Given the description of an element on the screen output the (x, y) to click on. 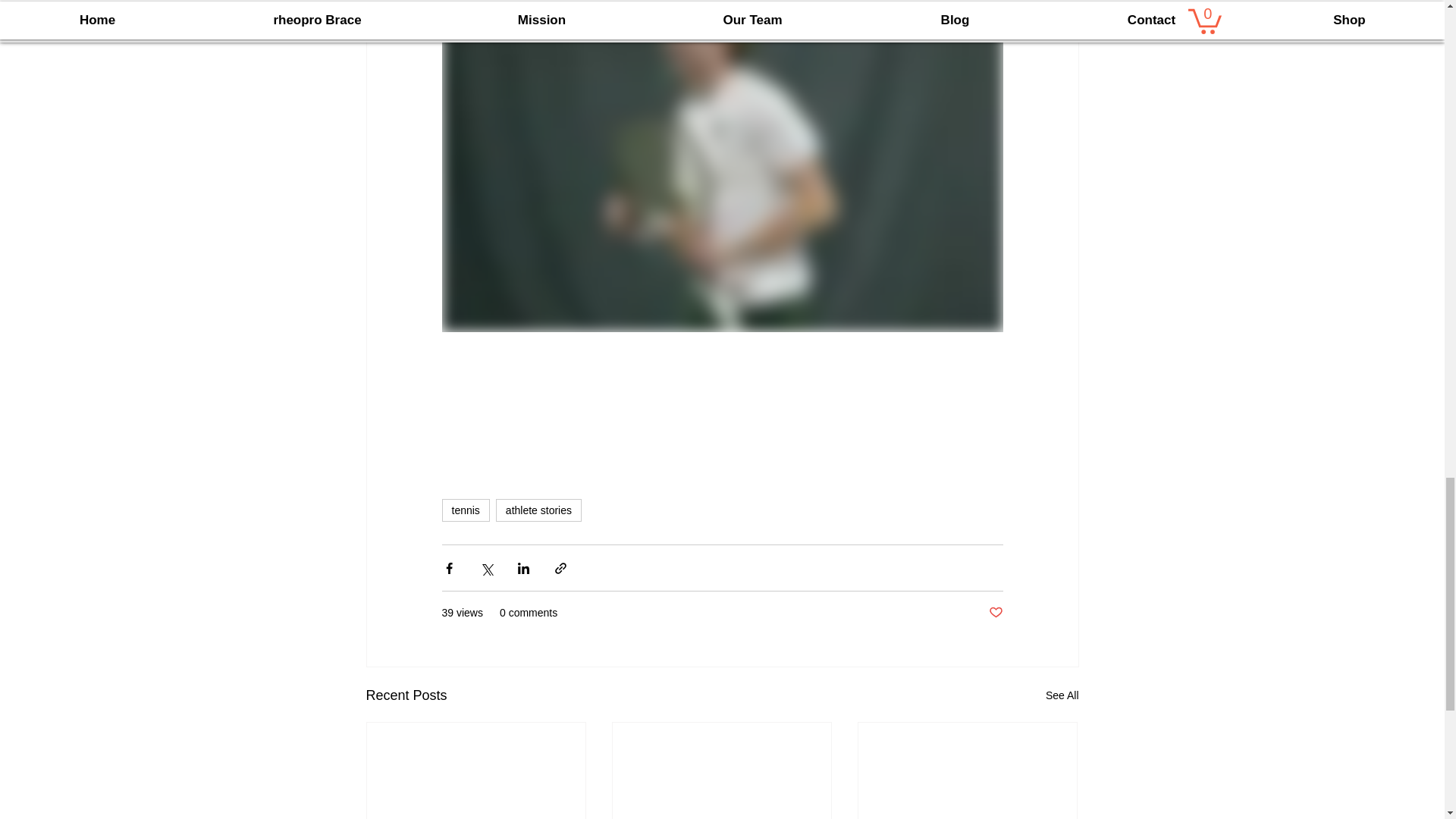
See All (1061, 695)
Post not marked as liked (995, 612)
athlete stories (538, 509)
tennis (465, 509)
